Given the description of an element on the screen output the (x, y) to click on. 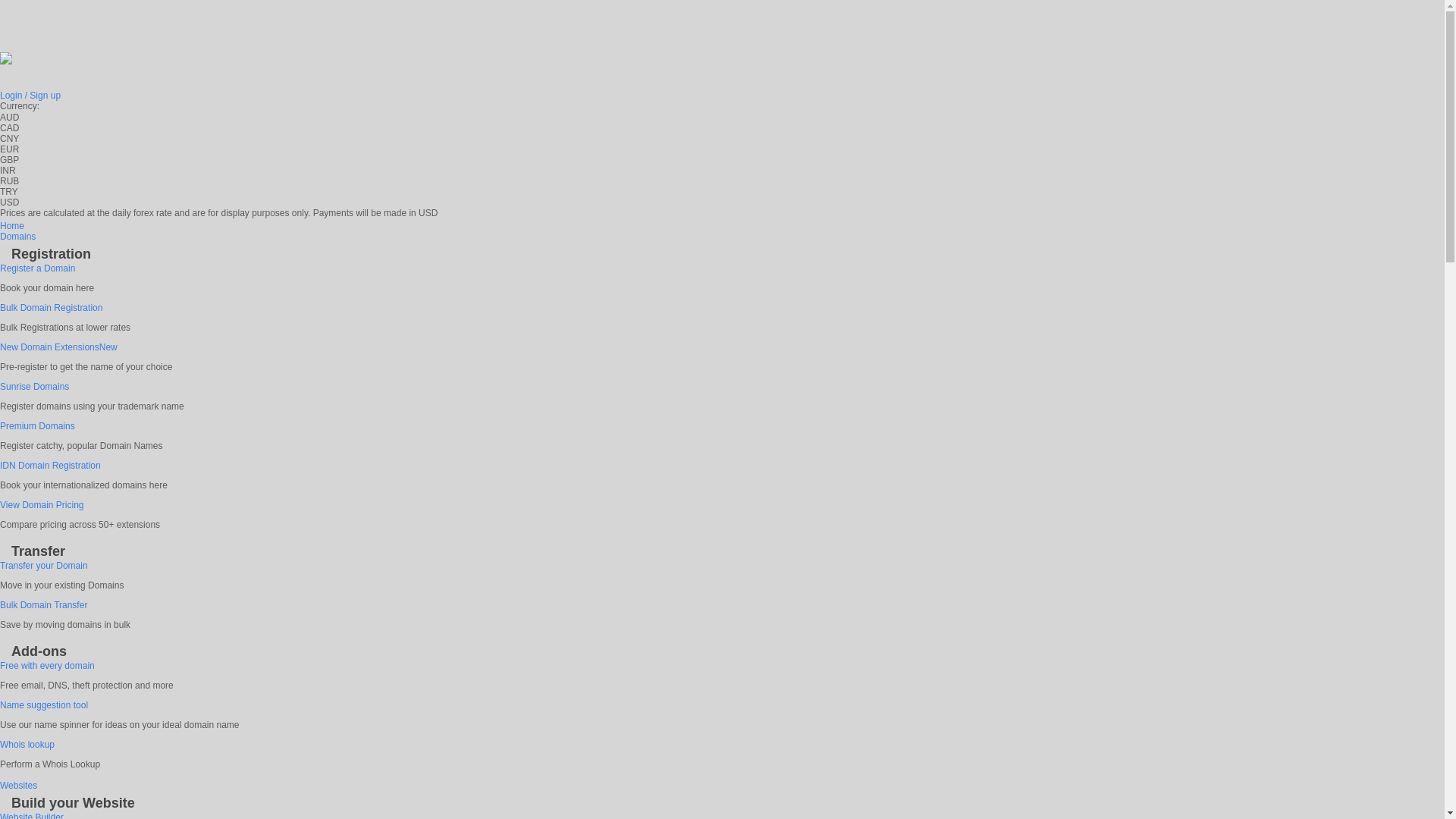
Premium Domains Element type: text (37, 425)
Sunrise Domains Element type: text (34, 386)
Whois lookup Element type: text (27, 744)
Name suggestion tool Element type: text (43, 704)
Domains Element type: text (17, 236)
Login / Sign up Element type: text (30, 95)
Bulk Domain Transfer Element type: text (43, 604)
View Domain Pricing Element type: text (42, 504)
Home Element type: text (12, 225)
Transfer your Domain Element type: text (43, 565)
Websites Element type: text (18, 785)
Register a Domain Element type: text (37, 268)
Bulk Domain Registration Element type: text (51, 307)
Free with every domain Element type: text (47, 665)
IDN Domain Registration Element type: text (50, 465)
New Domain ExtensionsNew Element type: text (58, 347)
